Given the description of an element on the screen output the (x, y) to click on. 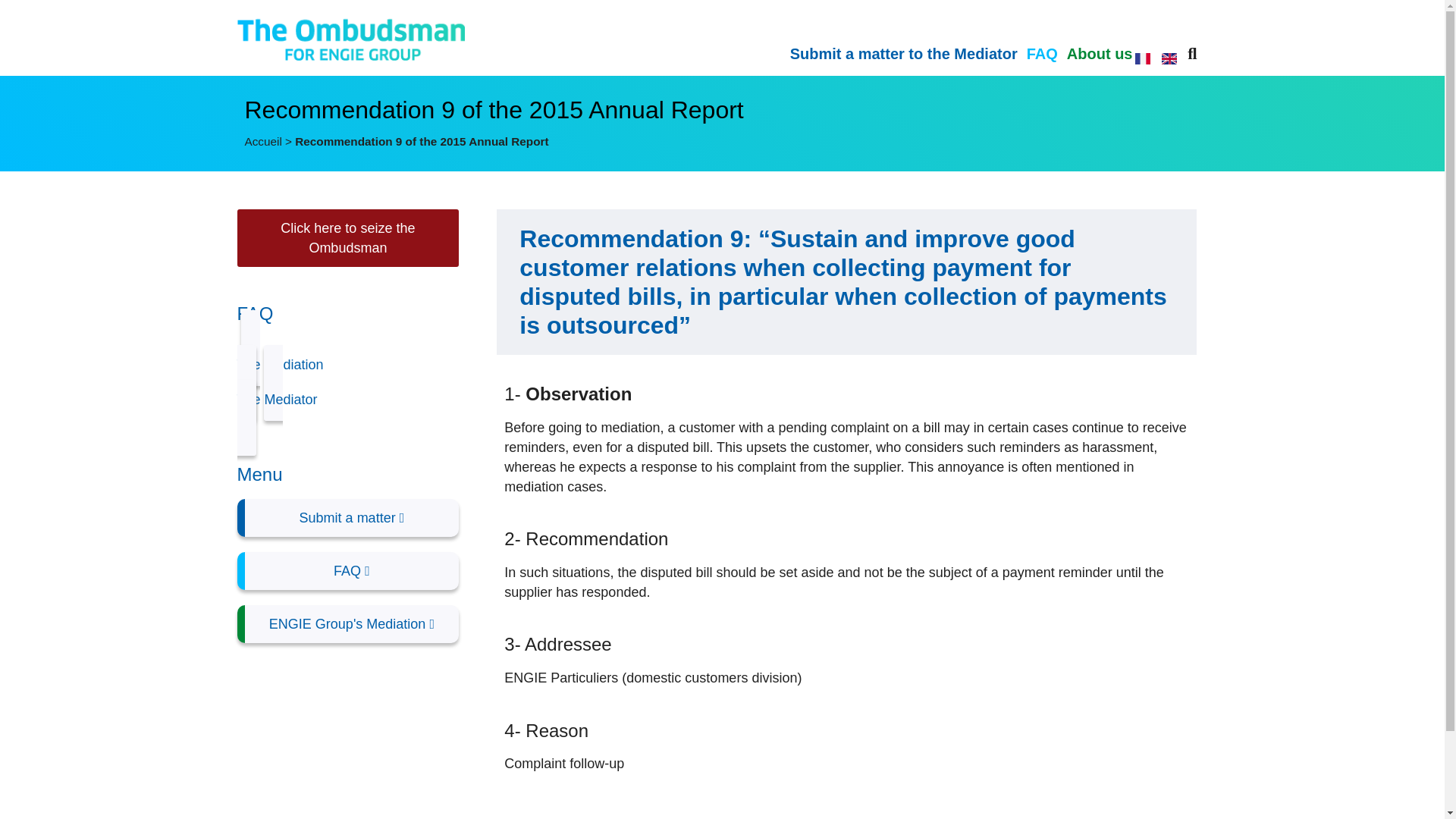
Submit a matter to the Mediator (903, 53)
Click here to seize the Ombudsman (346, 237)
About us (1099, 53)
ENGIE Group's Mediation (346, 623)
Submit a matter (346, 517)
Accueil (262, 141)
The Mediation (346, 365)
The Mediator (346, 399)
FAQ (346, 570)
